Given the description of an element on the screen output the (x, y) to click on. 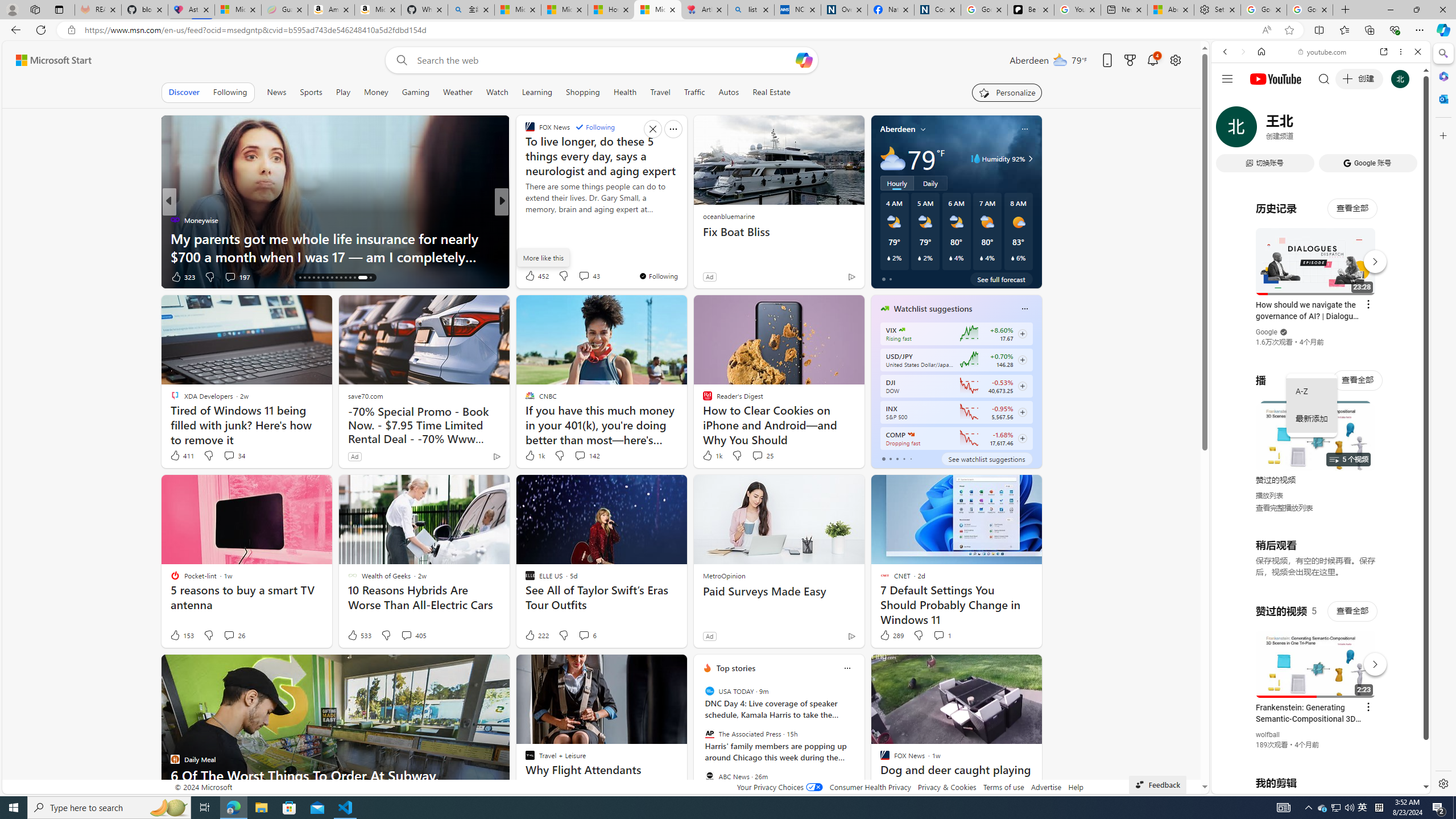
you (1315, 755)
Actions for this site (1371, 661)
Class: b_serphb (1404, 130)
AutomationID: tab-21 (322, 277)
View comments 1 Comment (942, 634)
previous (699, 741)
Sports (310, 92)
View comments 25 Comment (756, 455)
